Given the description of an element on the screen output the (x, y) to click on. 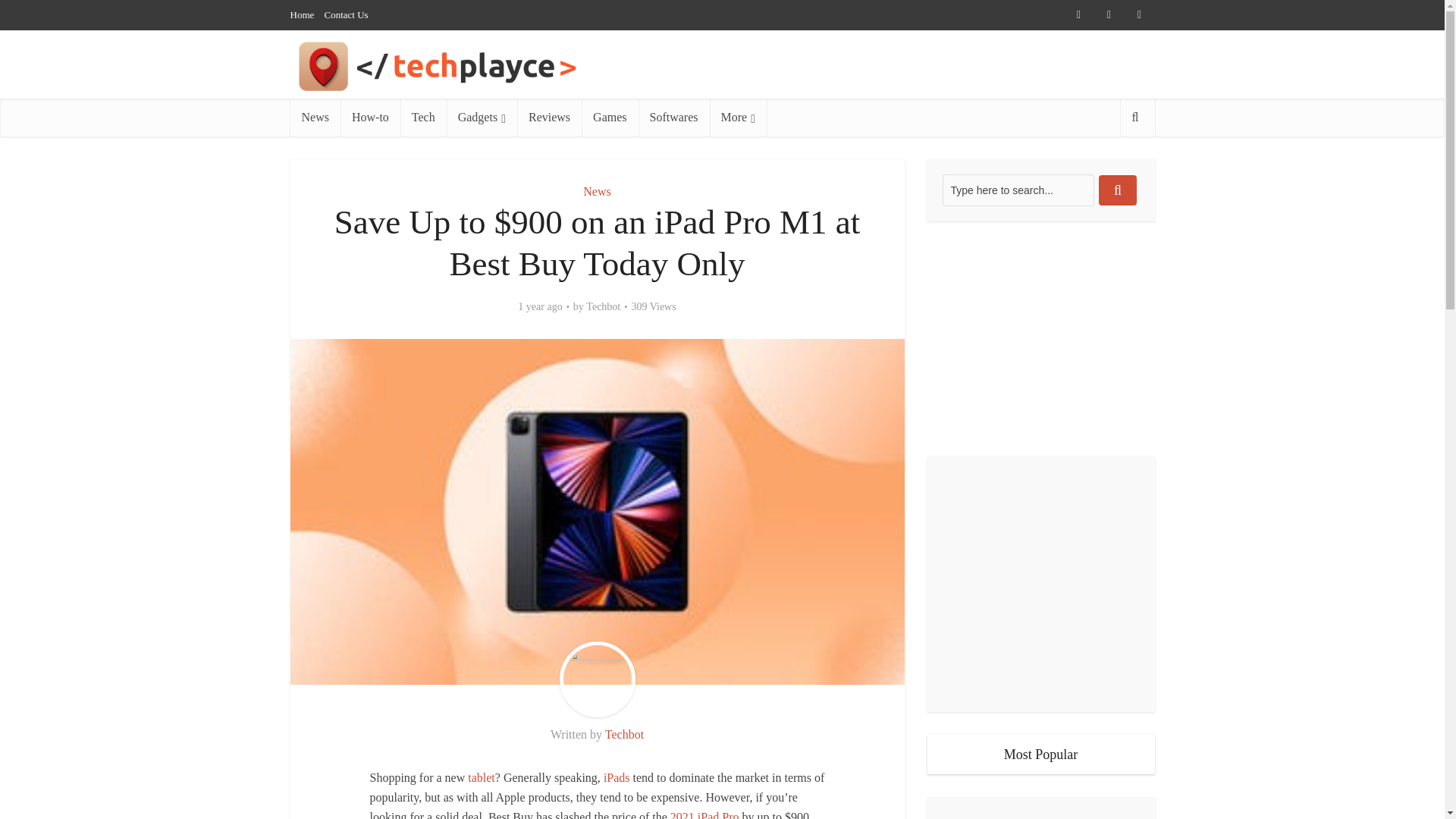
Techplayce (495, 65)
Home (301, 14)
Advertisement (1040, 339)
iPads (617, 777)
Softwares (674, 117)
tablet (481, 777)
Reviews (548, 117)
Tech (423, 117)
Games (608, 117)
Gadgets (481, 117)
